Given the description of an element on the screen output the (x, y) to click on. 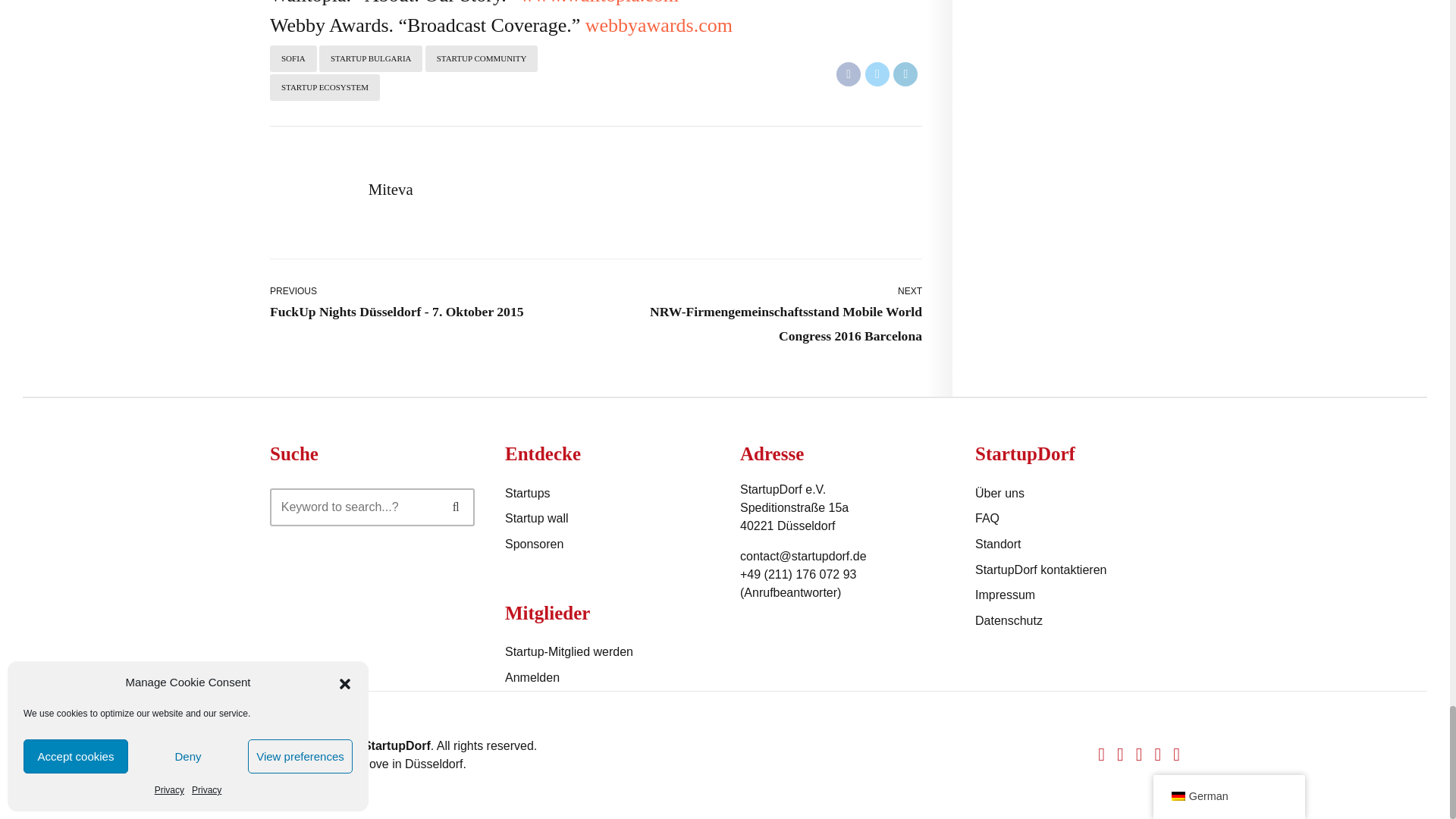
Back to Bello home (284, 755)
Share on Twitter (876, 74)
Share on Facebook (847, 74)
Share on Linkedin (905, 74)
